Given the description of an element on the screen output the (x, y) to click on. 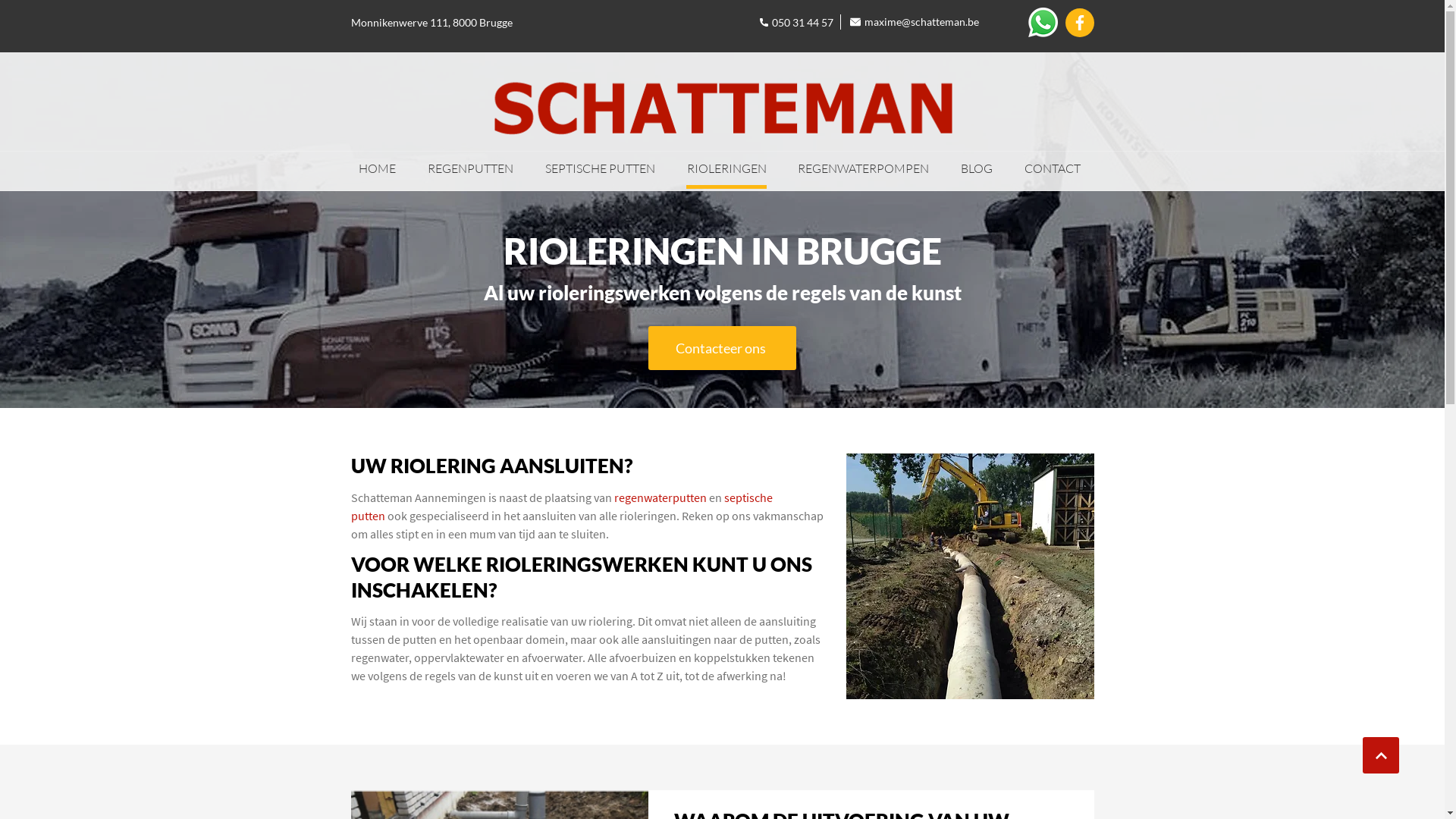
septische putten Element type: text (560, 506)
CONTACT Element type: text (1052, 169)
REGENWATERPOMPEN Element type: text (863, 169)
regenwaterputten Element type: text (660, 497)
BLOG Element type: text (976, 169)
SEPTISCHE PUTTEN Element type: text (599, 169)
050 31 44 57 Element type: text (796, 21)
REGENPUTTEN Element type: text (470, 169)
RIOLERINGEN Element type: text (726, 169)
Contacteer ons Element type: text (721, 348)
maxime@schatteman.be Element type: text (914, 21)
HOME Element type: text (376, 169)
